Given the description of an element on the screen output the (x, y) to click on. 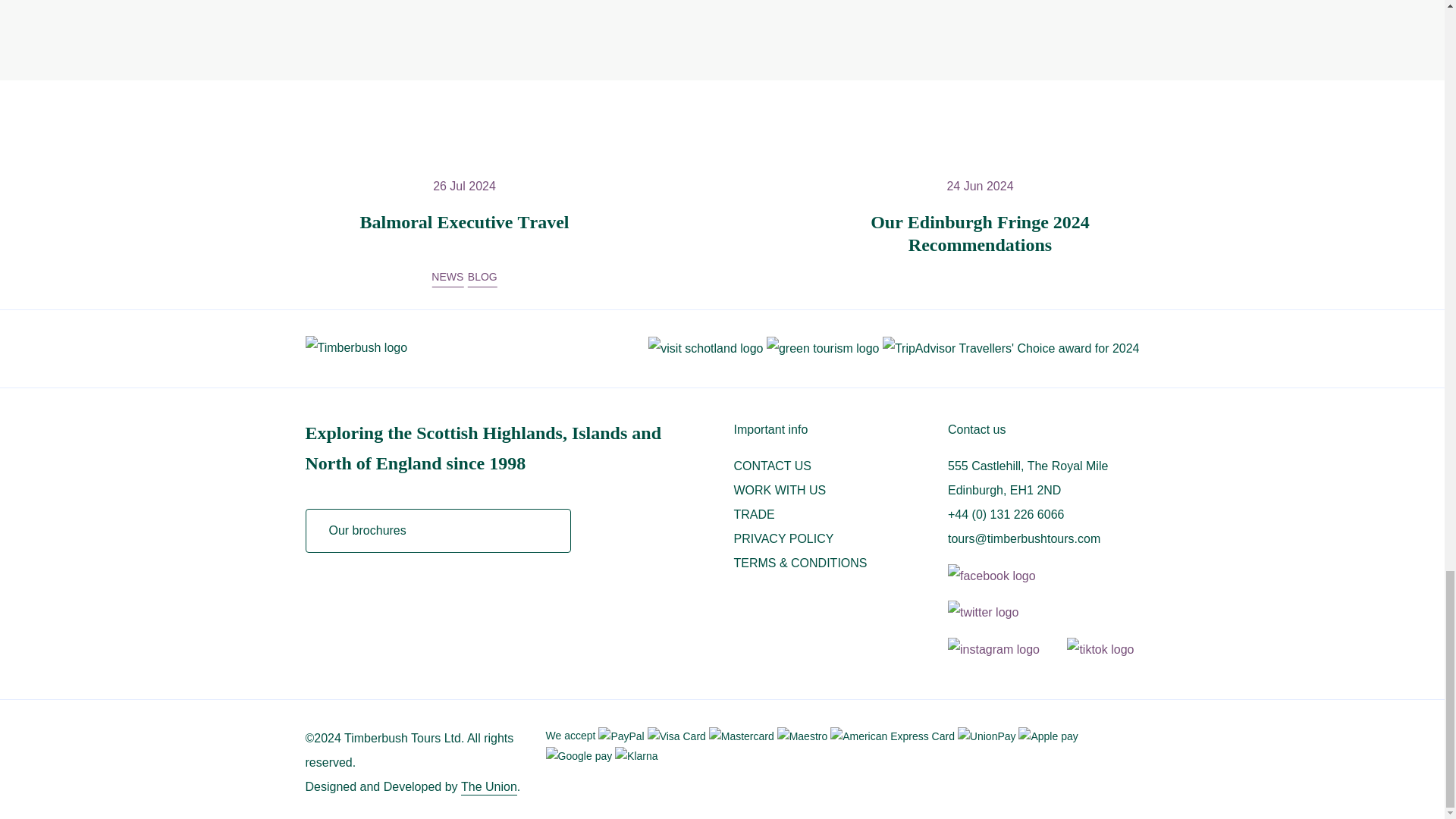
TikTok (1100, 649)
Instagram (1005, 649)
Facebook (1003, 575)
X (994, 612)
